Given the description of an element on the screen output the (x, y) to click on. 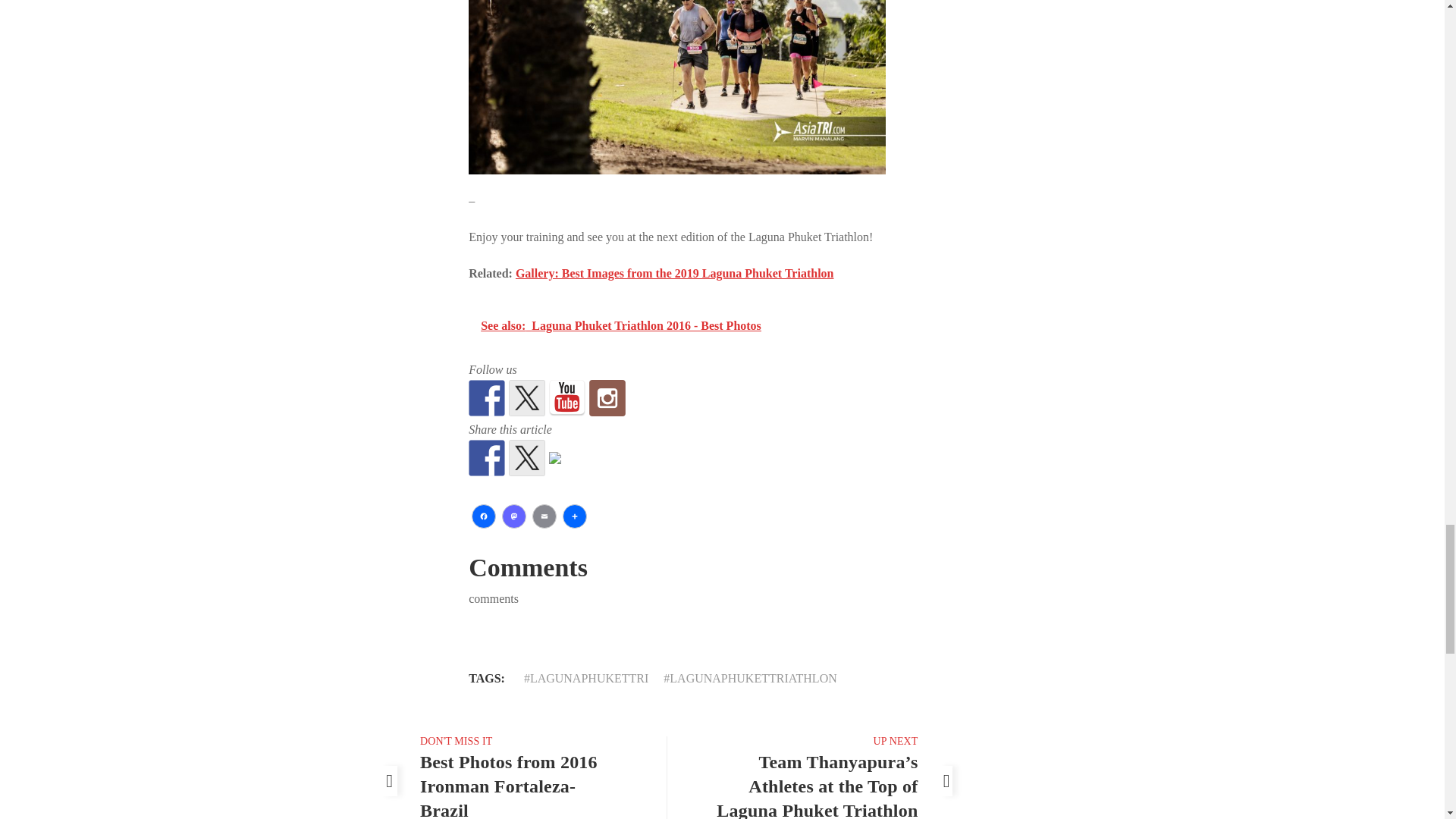
Follow us on Twitter (526, 398)
Find us on YouTube (566, 398)
Follow us on Facebook (486, 398)
